Given the description of an element on the screen output the (x, y) to click on. 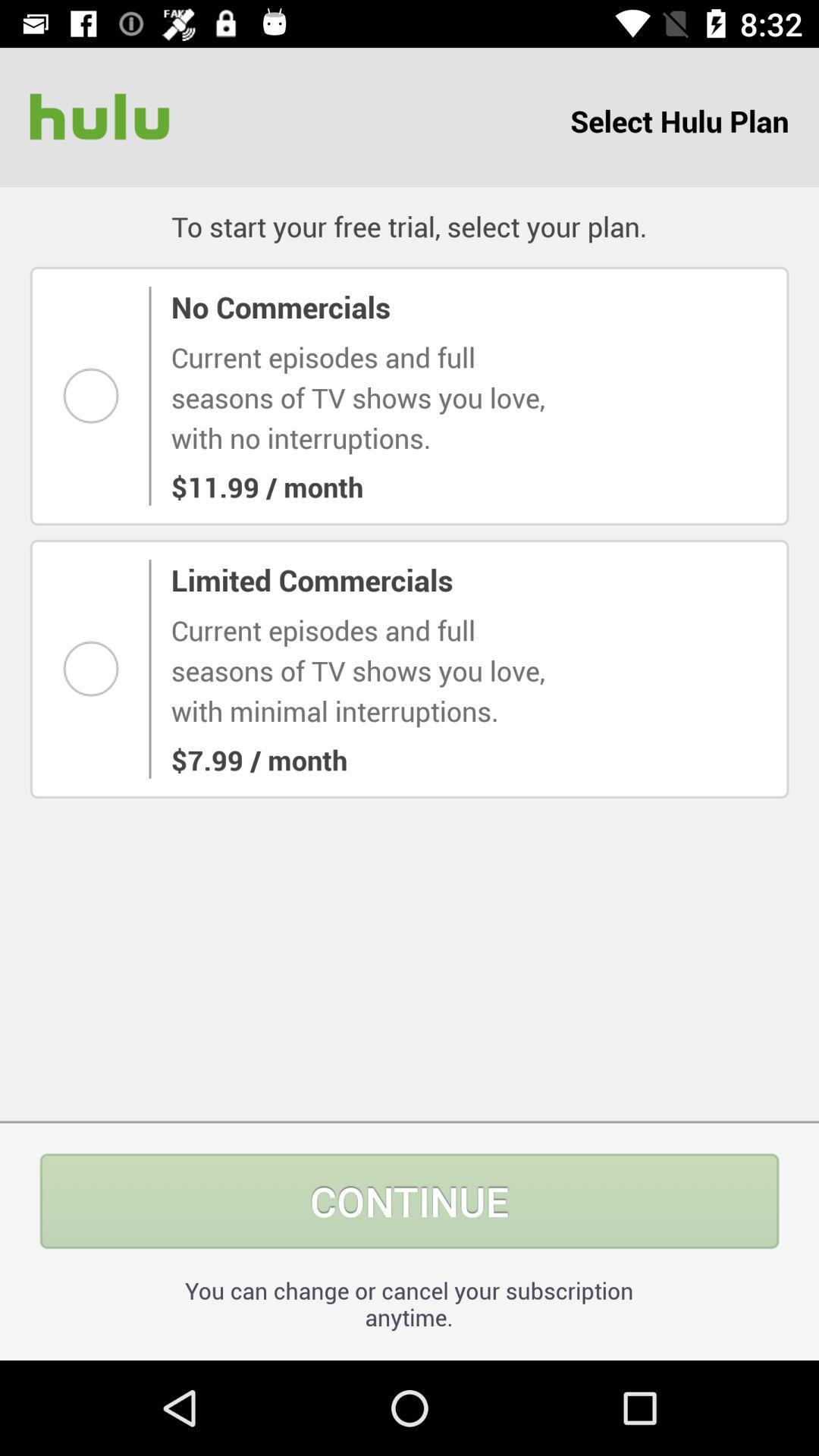
select this option (96, 668)
